Given the description of an element on the screen output the (x, y) to click on. 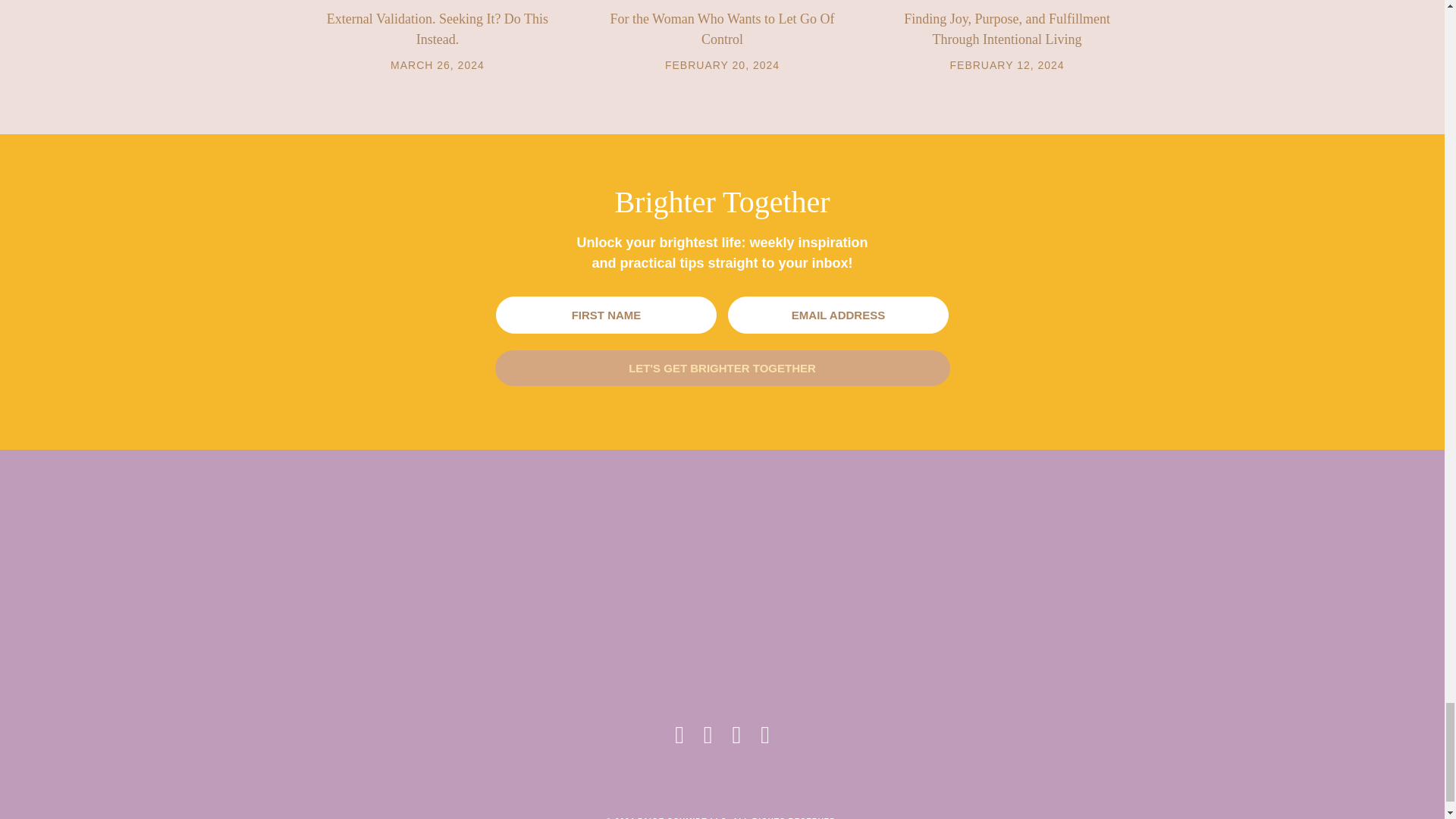
Let's Get Brighter Together (722, 367)
For the Woman Who Wants to Let Go Of Control (722, 28)
Let's Get Brighter Together (722, 367)
External Validation. Seeking It? Do This Instead. (437, 28)
